Given the description of an element on the screen output the (x, y) to click on. 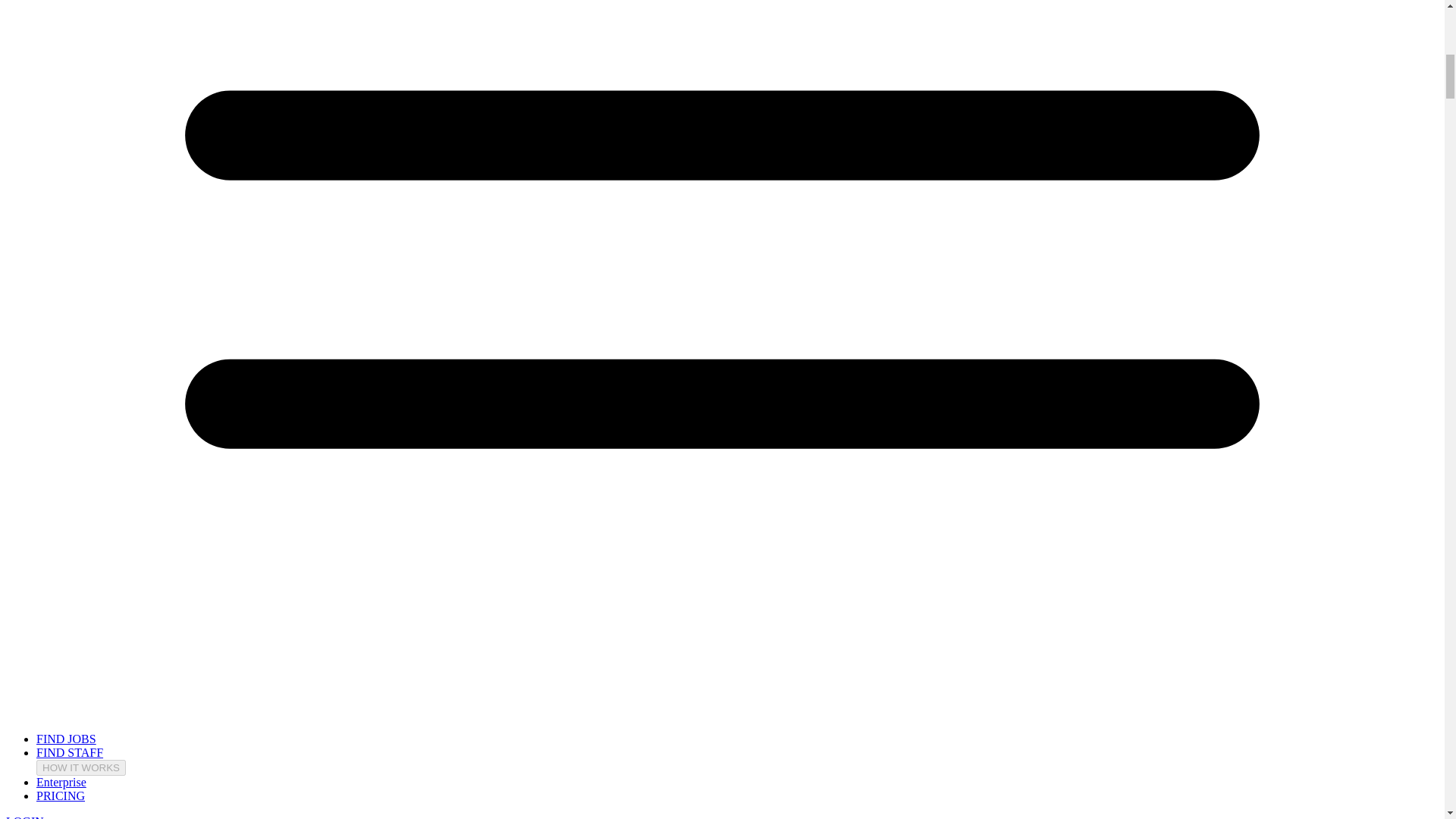
Enterprise (60, 781)
PRICING (60, 795)
HOW IT WORKS (80, 767)
FIND JOBS (66, 738)
FIND STAFF (69, 752)
LOGIN (24, 816)
